Given the description of an element on the screen output the (x, y) to click on. 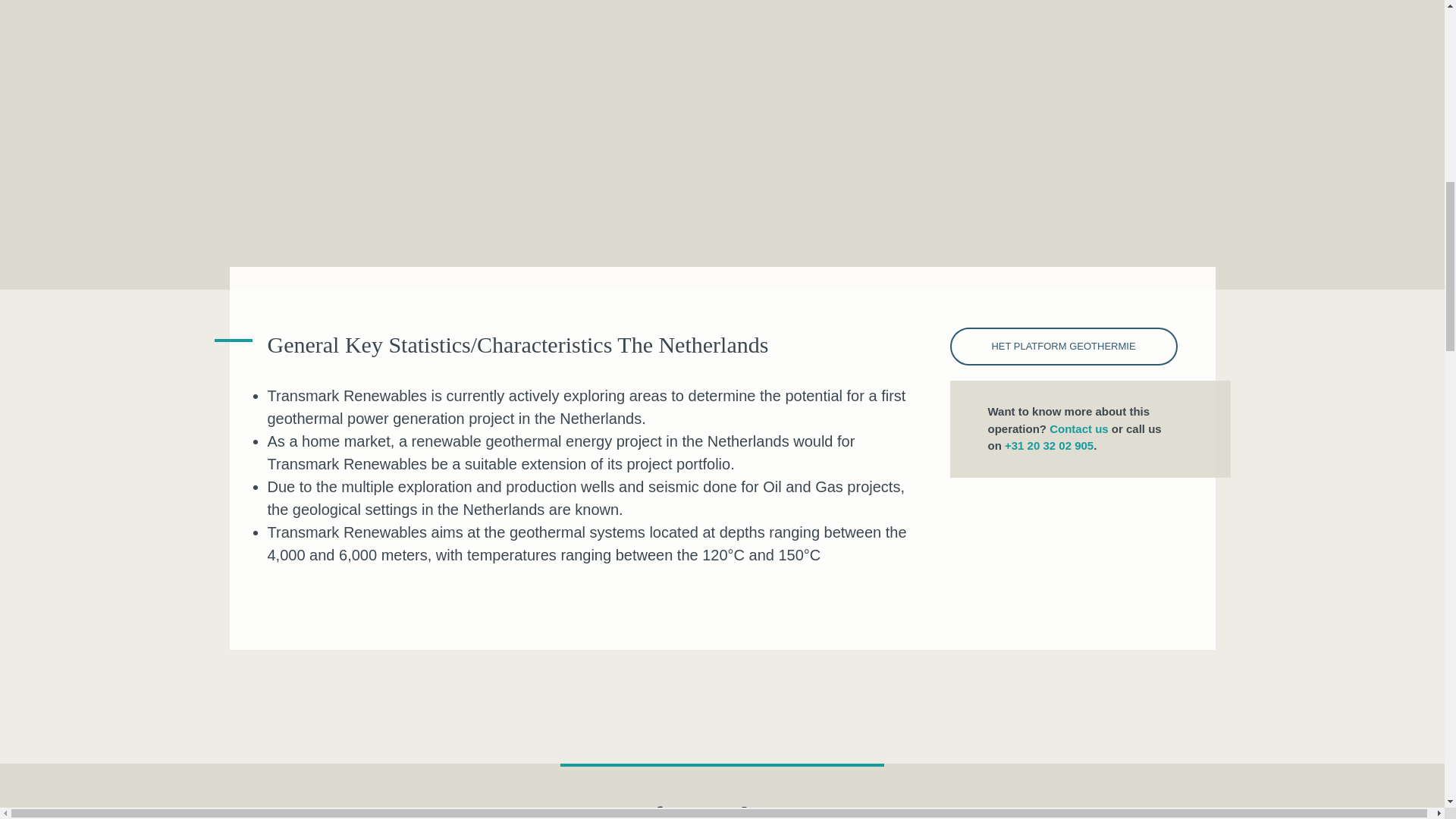
Contact us (1078, 427)
HET PLATFORM GEOTHERMIE (1062, 346)
Contact Transmark (1078, 427)
